Given the description of an element on the screen output the (x, y) to click on. 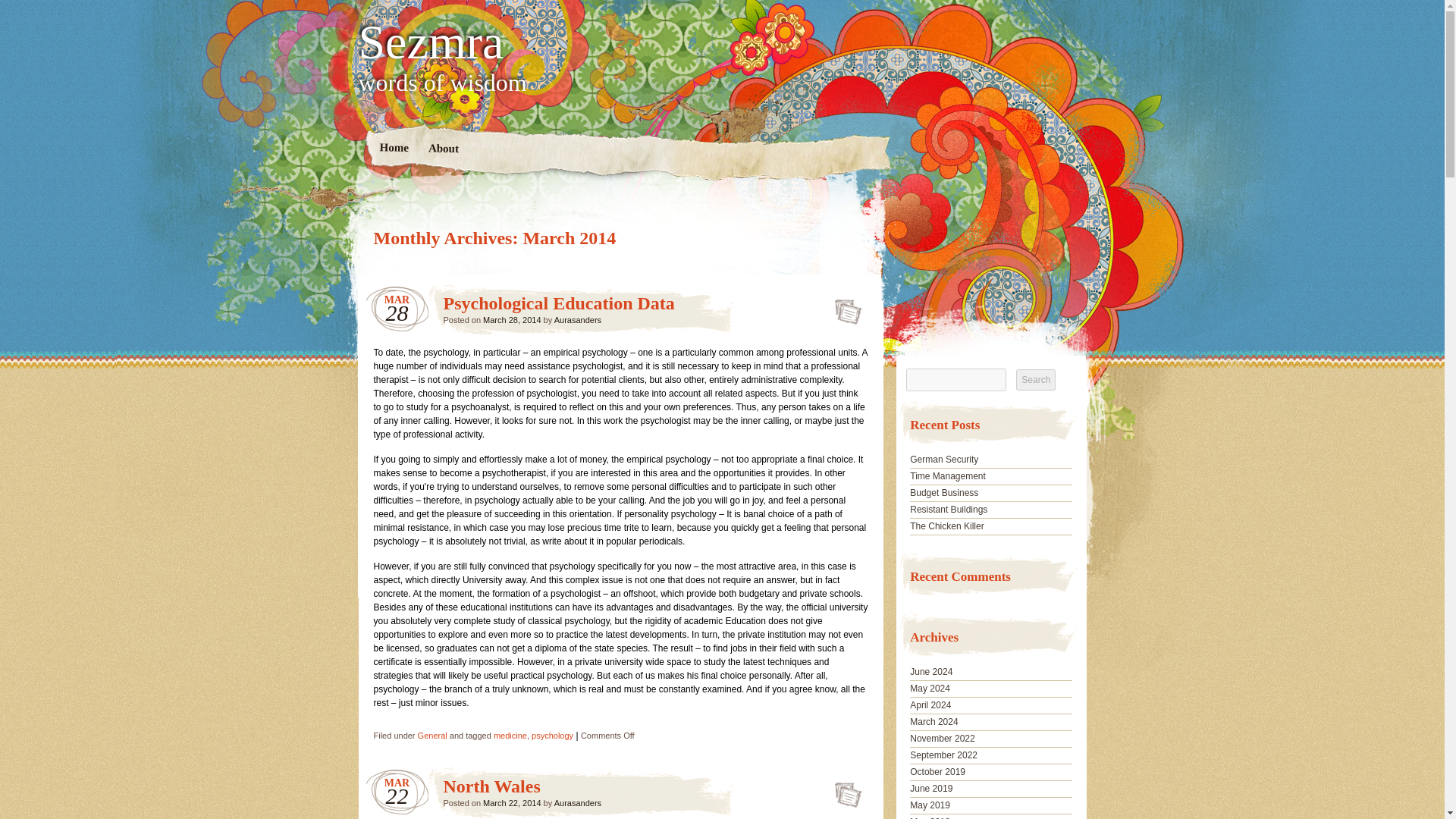
medicine (510, 735)
About (442, 149)
5:26 am (511, 802)
Permalink to Psychological Education Data (843, 307)
Home (393, 149)
Psychological Education Data (843, 307)
Aurasanders (577, 802)
Psychological Education Data (558, 302)
March 28, 2014 (511, 319)
North Wales (491, 786)
Sezmra (722, 42)
March 22, 2014 (511, 802)
Search (1035, 379)
Aurasanders (577, 319)
View all posts by Aurasanders (577, 319)
